Given the description of an element on the screen output the (x, y) to click on. 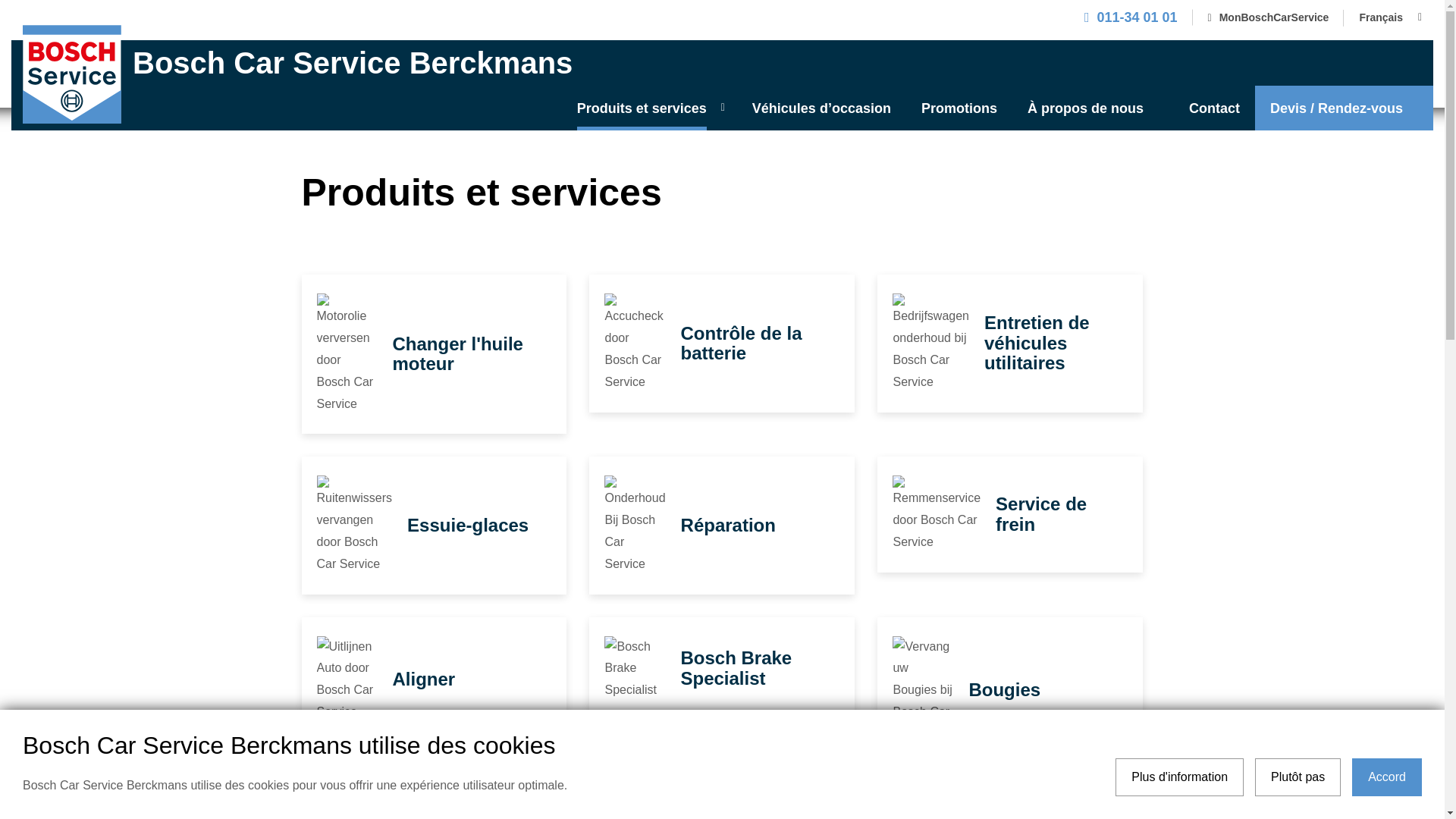
Produits et services Element type: text (649, 108)
Contact Element type: text (1214, 108)
Service de frein Element type: text (1040, 513)
Changer l'huile moteur Element type: text (457, 353)
Accord Element type: text (1386, 777)
Bougies Element type: text (1004, 689)
Plus d'information Element type: text (1179, 777)
Aligner Element type: text (423, 678)
Promotions Element type: text (959, 108)
MonBoschCarService Element type: text (1268, 17)
Devis / Rendez-vous Element type: text (1344, 108)
Bosch Brake Specialist Element type: text (735, 667)
Bosch Car Service Berckmans Element type: text (721, 62)
Essuie-glaces Element type: text (467, 524)
Skip to main content Element type: text (0, 0)
011-34 01 01 Element type: text (1130, 17)
